Given the description of an element on the screen output the (x, y) to click on. 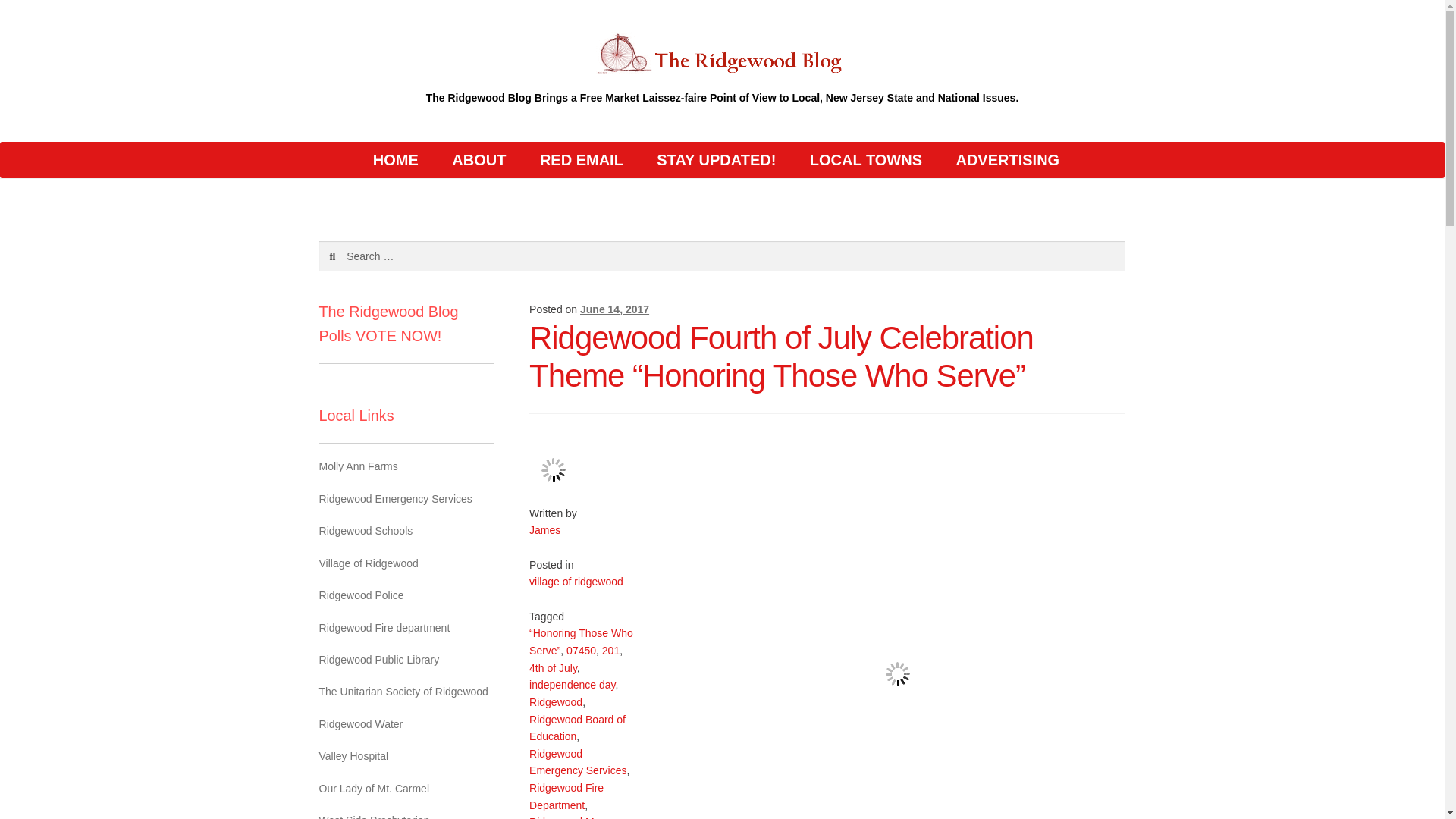
Ridgewood Fire Department (566, 796)
STAY UPDATED! (716, 159)
Ridgewood Board of Education (577, 727)
village of ridgewood (576, 581)
Ridgewood Moms and dads (571, 817)
07450 (580, 650)
LOCAL NJ Towns News (865, 159)
Ridgewood Emergency Services (577, 762)
LOCAL TOWNS (865, 159)
James (544, 530)
ABOUT (478, 159)
201 (611, 650)
independence day (571, 684)
